Given the description of an element on the screen output the (x, y) to click on. 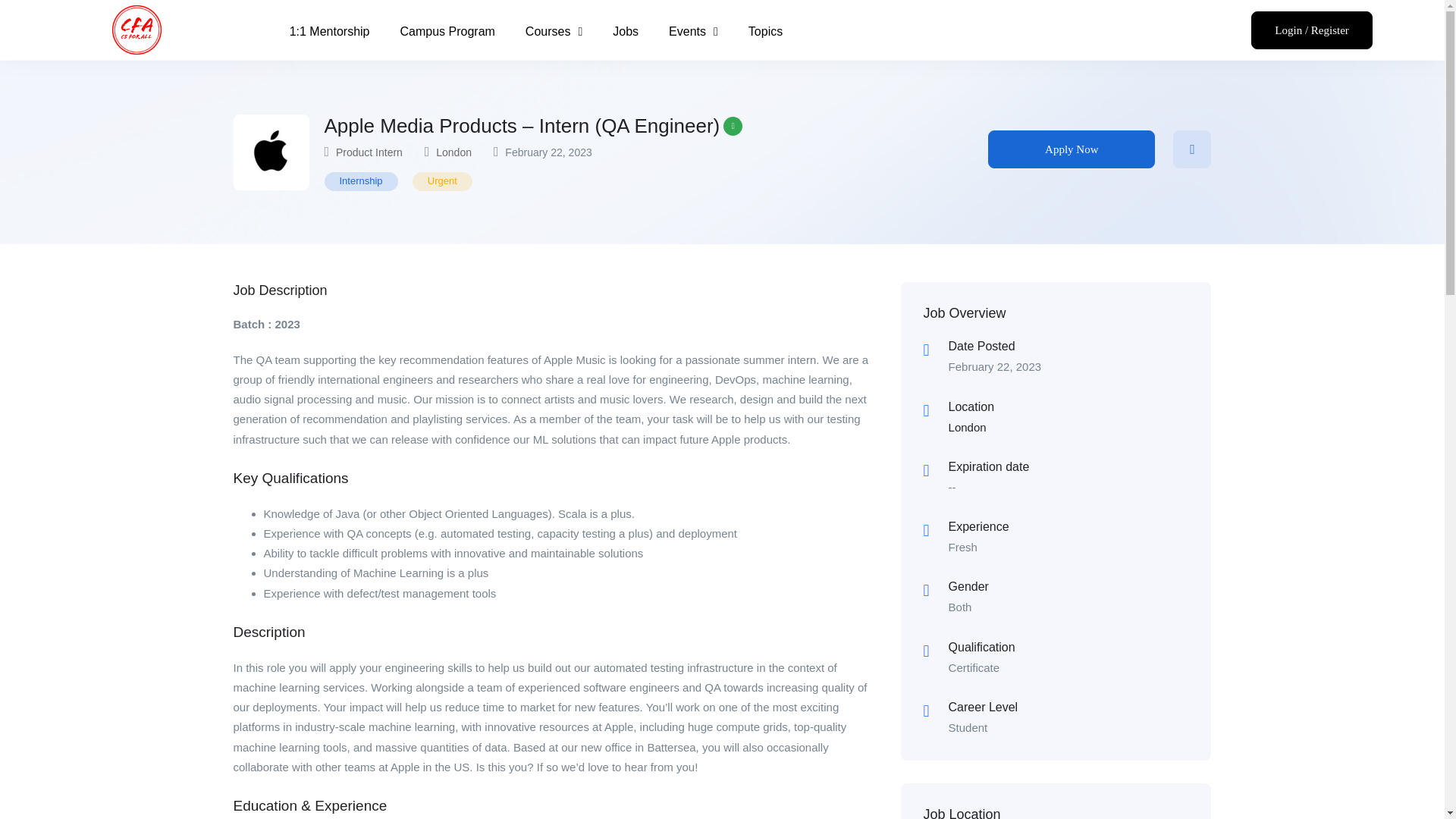
Courses (552, 31)
Events (693, 31)
Jobs (624, 31)
Campus Program (446, 31)
1:1 Mentorship (329, 31)
Topics (765, 31)
